Given the description of an element on the screen output the (x, y) to click on. 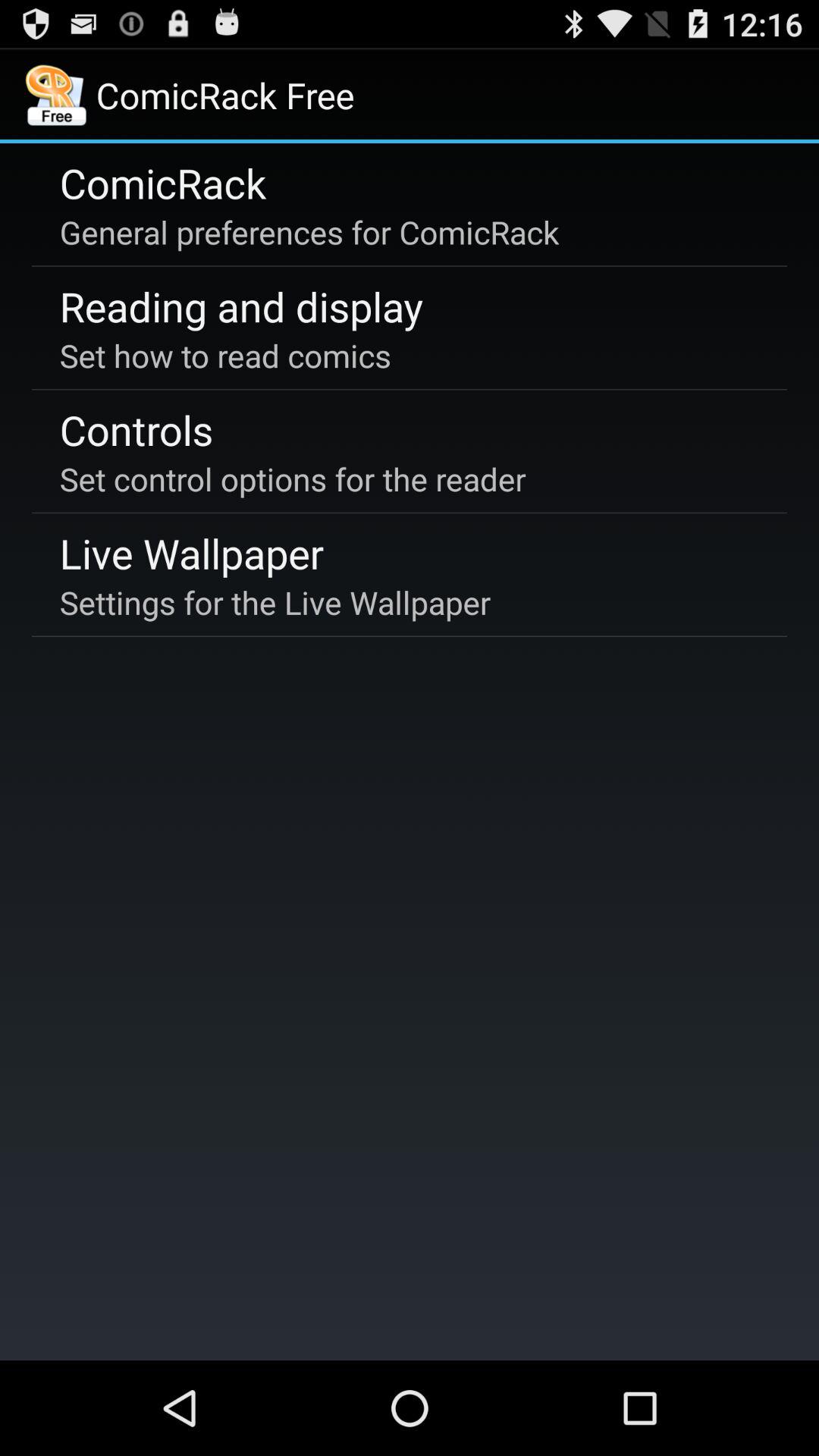
swipe until the set how to item (225, 355)
